Given the description of an element on the screen output the (x, y) to click on. 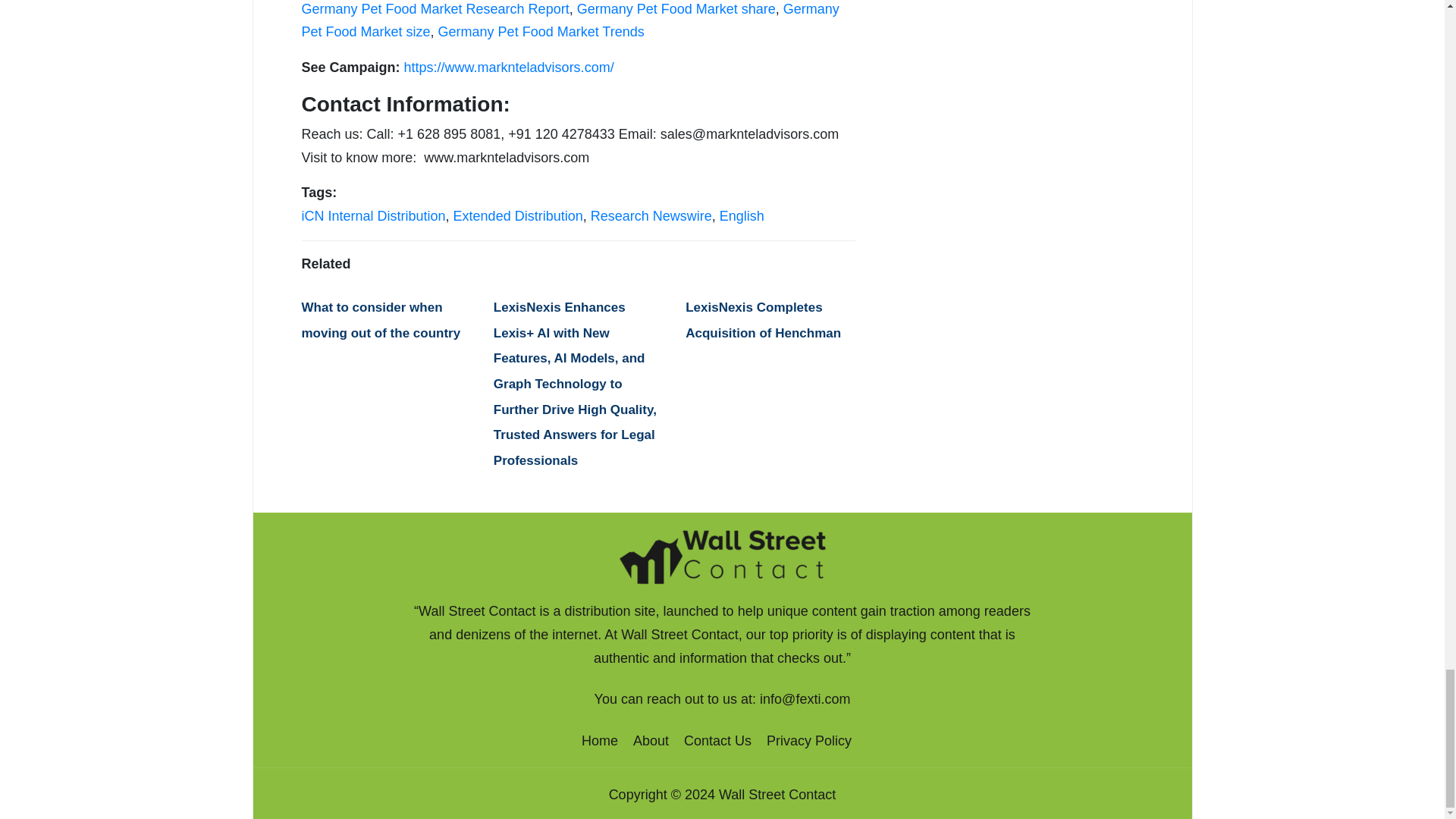
What to consider when moving out of the country (381, 320)
Germany Pet Food Market Research Report (435, 8)
Germany Pet Food Market Trends (541, 31)
Research Newswire (651, 215)
English (741, 215)
site title (721, 555)
Germany Pet Food Market share (676, 8)
Extended Distribution (517, 215)
Germany Pet Food Market size (570, 20)
iCN Internal Distribution (373, 215)
